Given the description of an element on the screen output the (x, y) to click on. 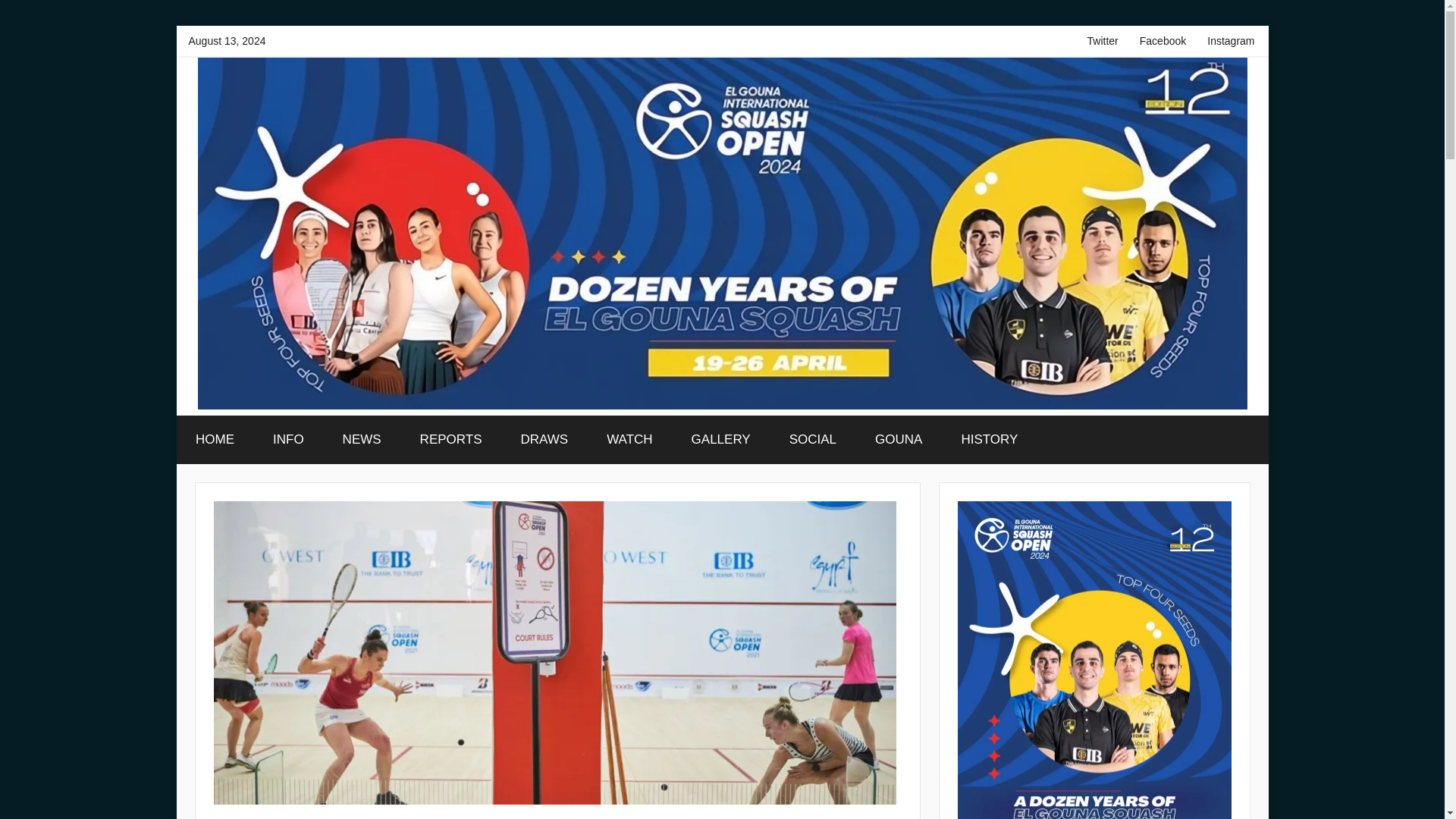
REPORTS (450, 439)
SOCIAL (813, 439)
HOME (214, 439)
GALLERY (720, 439)
NEWS (361, 439)
Twitter (1103, 40)
GOUNA (899, 439)
Instagram (1230, 40)
INFO (288, 439)
Facebook (1162, 40)
